Given the description of an element on the screen output the (x, y) to click on. 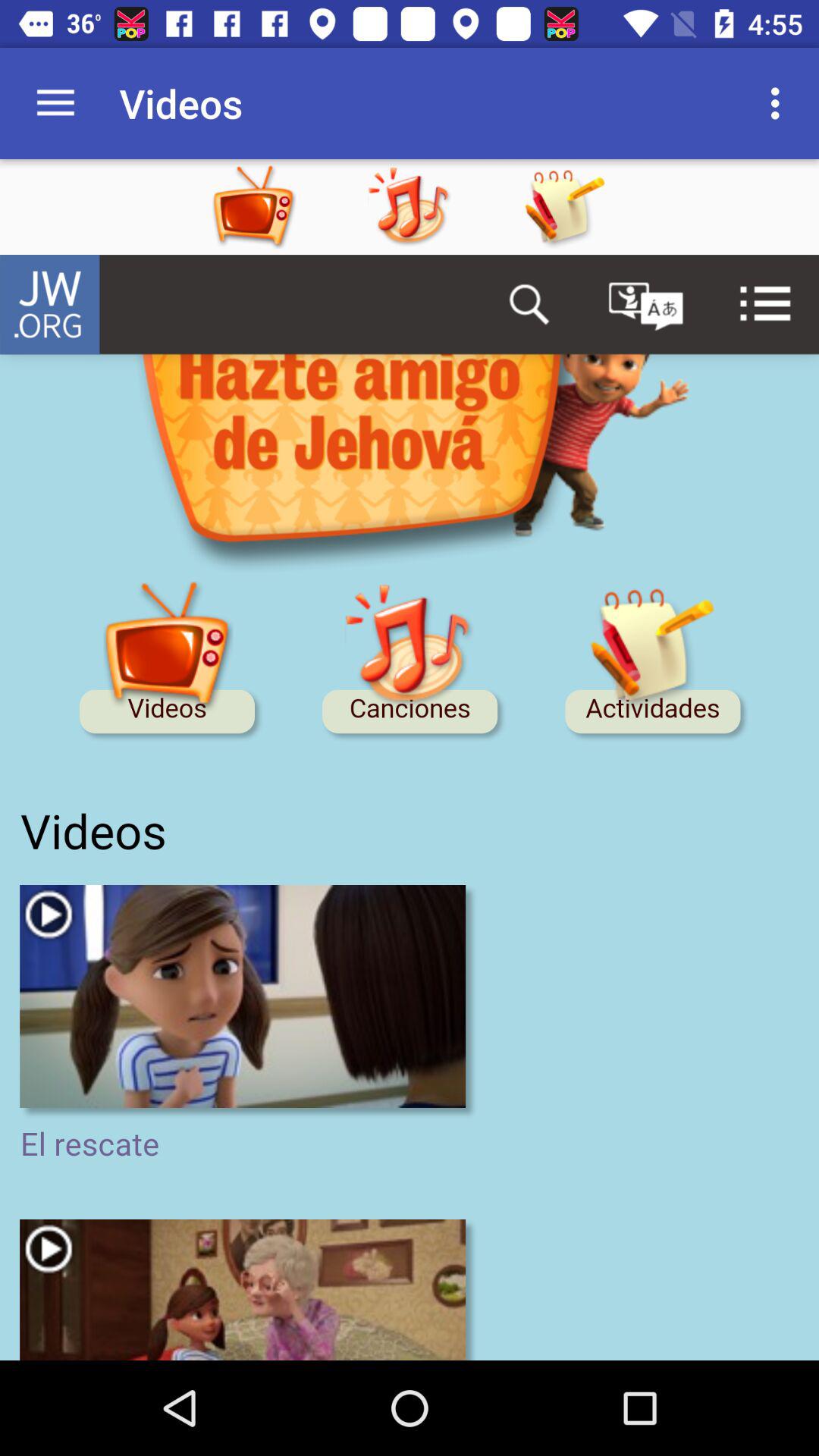
drawi (564, 206)
